Given the description of an element on the screen output the (x, y) to click on. 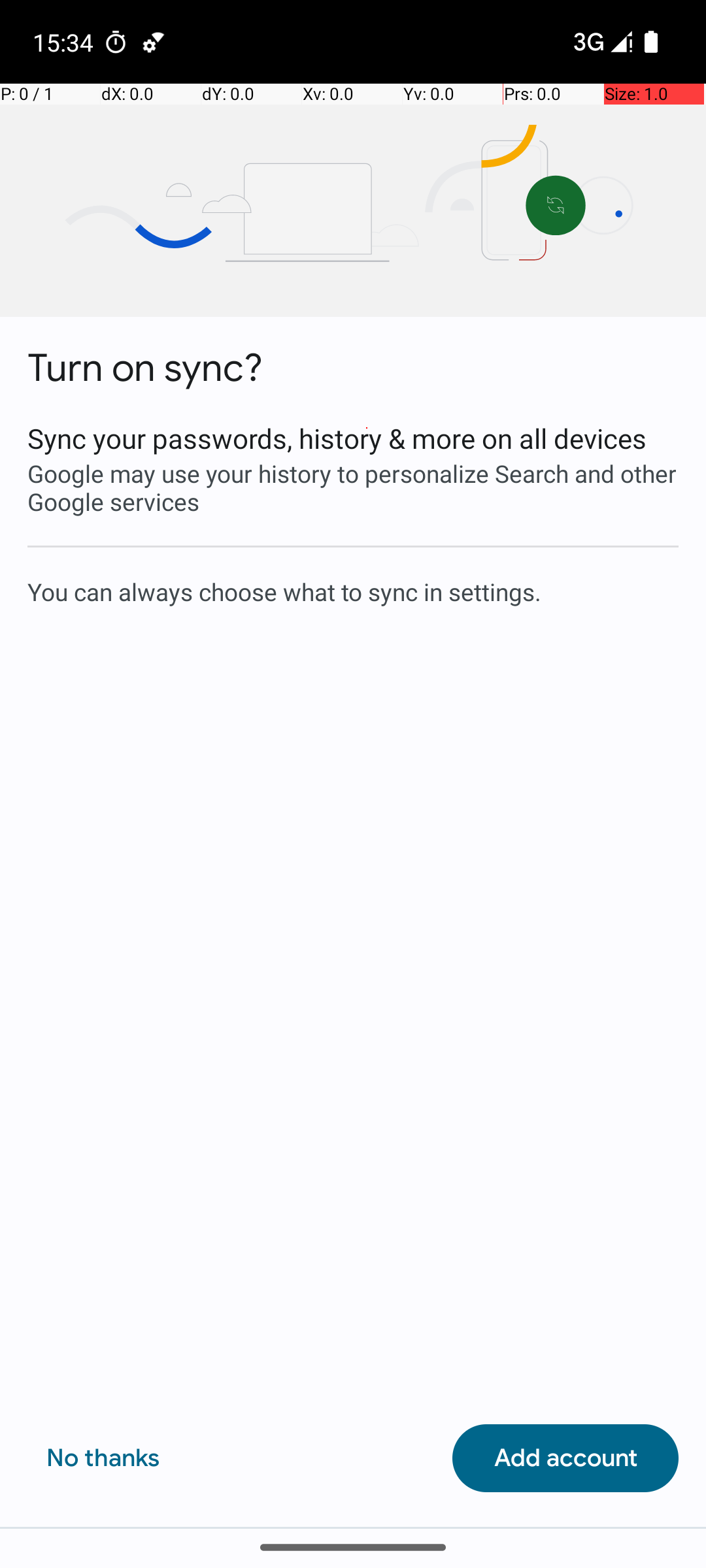
Android System notification: Wi‑Fi will turn on automatically Element type: android.widget.ImageView (153, 41)
